Given the description of an element on the screen output the (x, y) to click on. 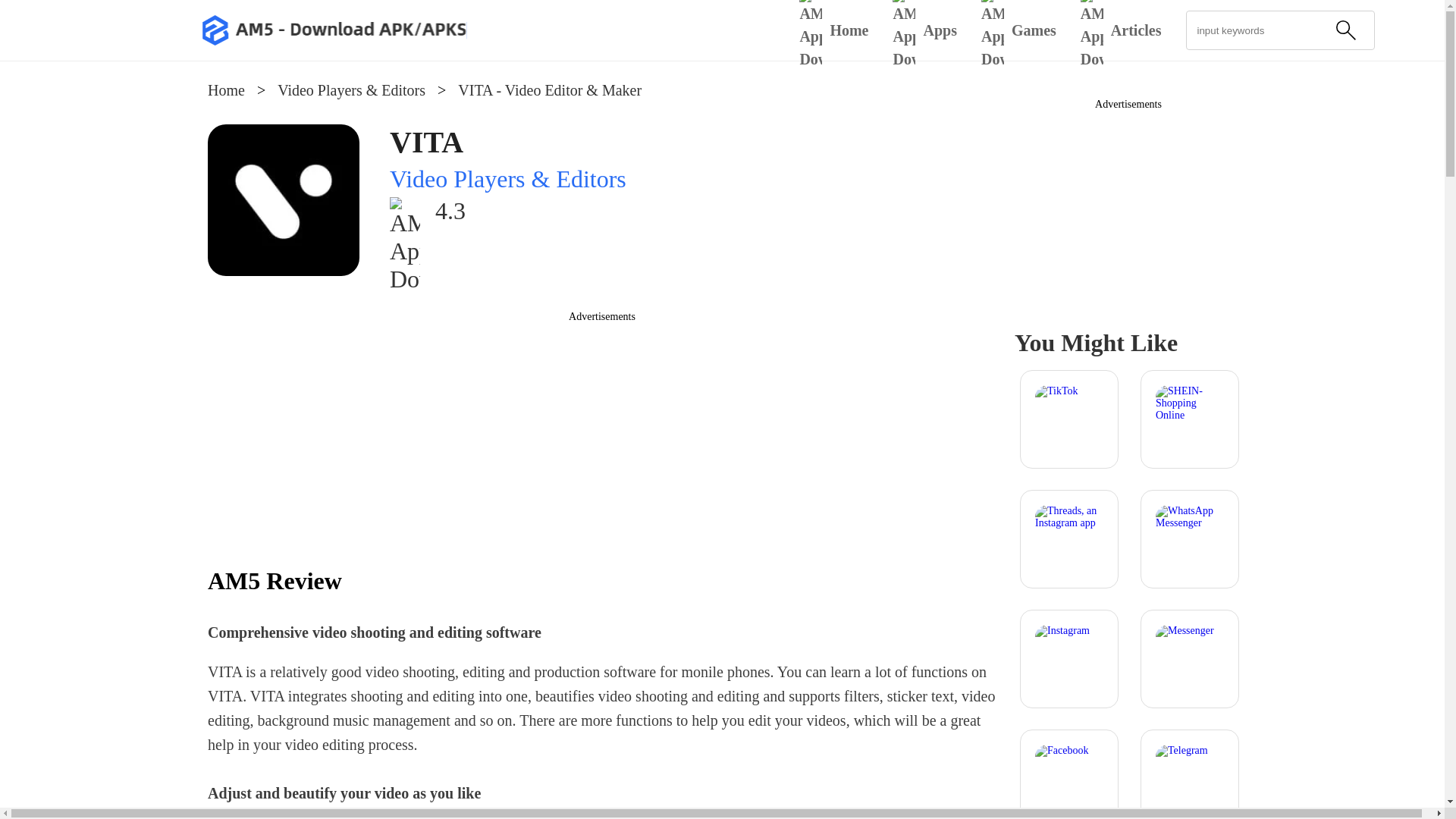
Articles (1120, 30)
search (1345, 30)
Games (1019, 30)
Home (226, 89)
Home (833, 30)
Apps (924, 30)
search (1345, 30)
